Given the description of an element on the screen output the (x, y) to click on. 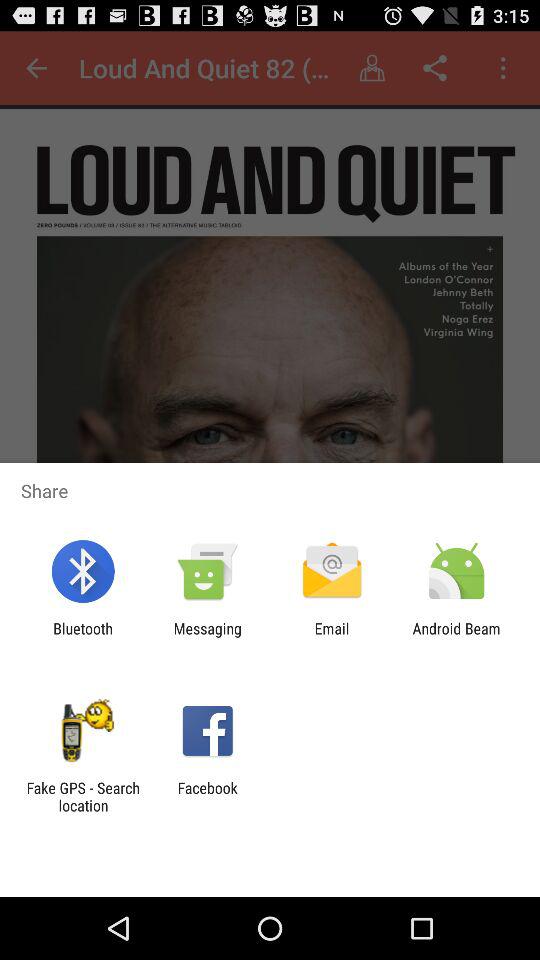
jump until the android beam app (456, 637)
